Given the description of an element on the screen output the (x, y) to click on. 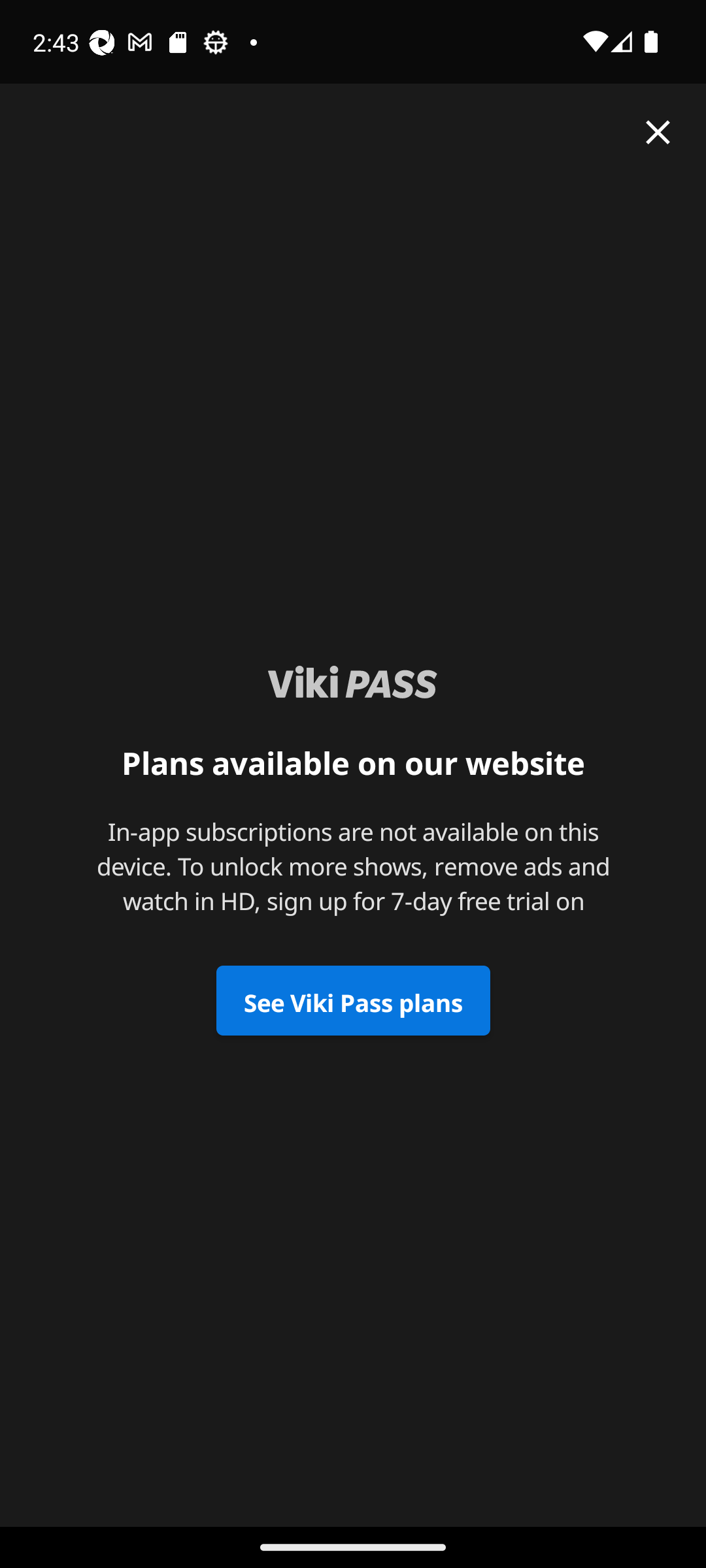
close_button (658, 132)
See Viki Pass plans (352, 1000)
